Given the description of an element on the screen output the (x, y) to click on. 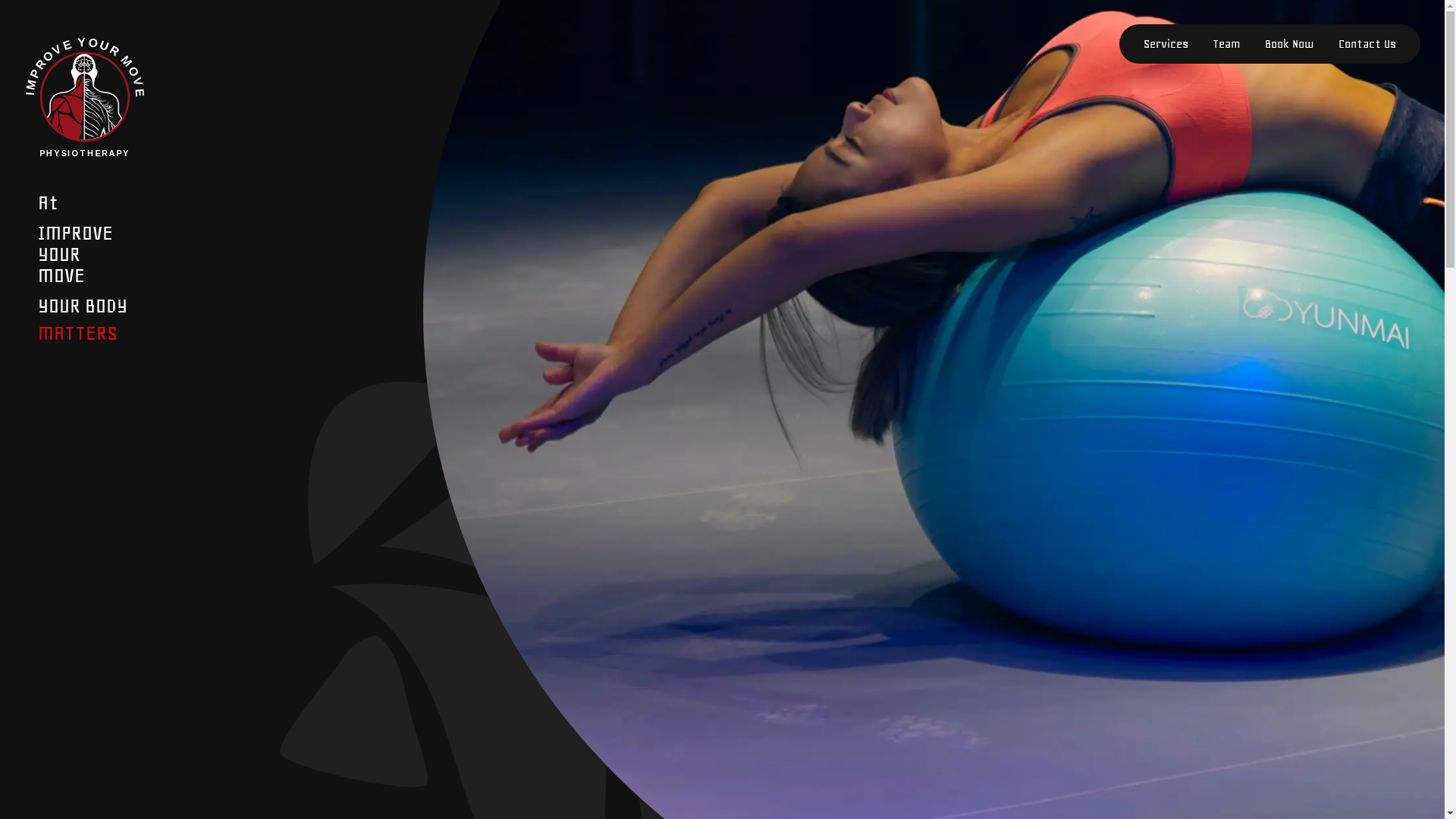
Services Element type: text (1165, 43)
Book Now Element type: text (1289, 43)
Contact Us Element type: text (1367, 43)
Team Element type: text (1226, 43)
